Given the description of an element on the screen output the (x, y) to click on. 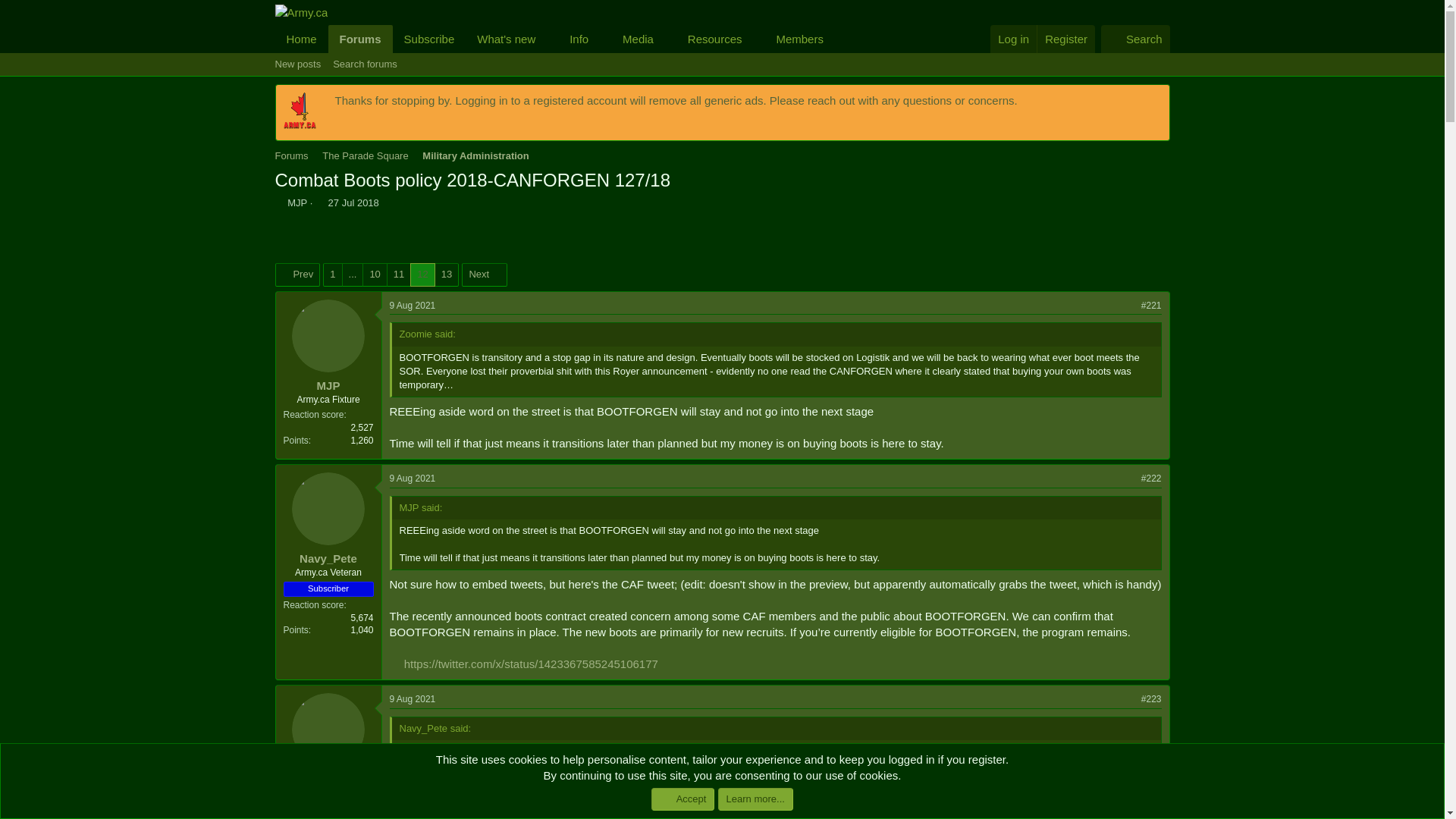
Forums (361, 39)
Subscribe (429, 39)
9 Aug 2021 at 10:36 (412, 478)
Members (794, 39)
Info (573, 39)
Home (301, 39)
Thread starter (279, 203)
Go to page (352, 274)
27 Jul 2018 at 17:03 (353, 202)
What's new (501, 39)
Search (1135, 39)
9 Aug 2021 at 10:47 (412, 698)
Media (720, 64)
